Given the description of an element on the screen output the (x, y) to click on. 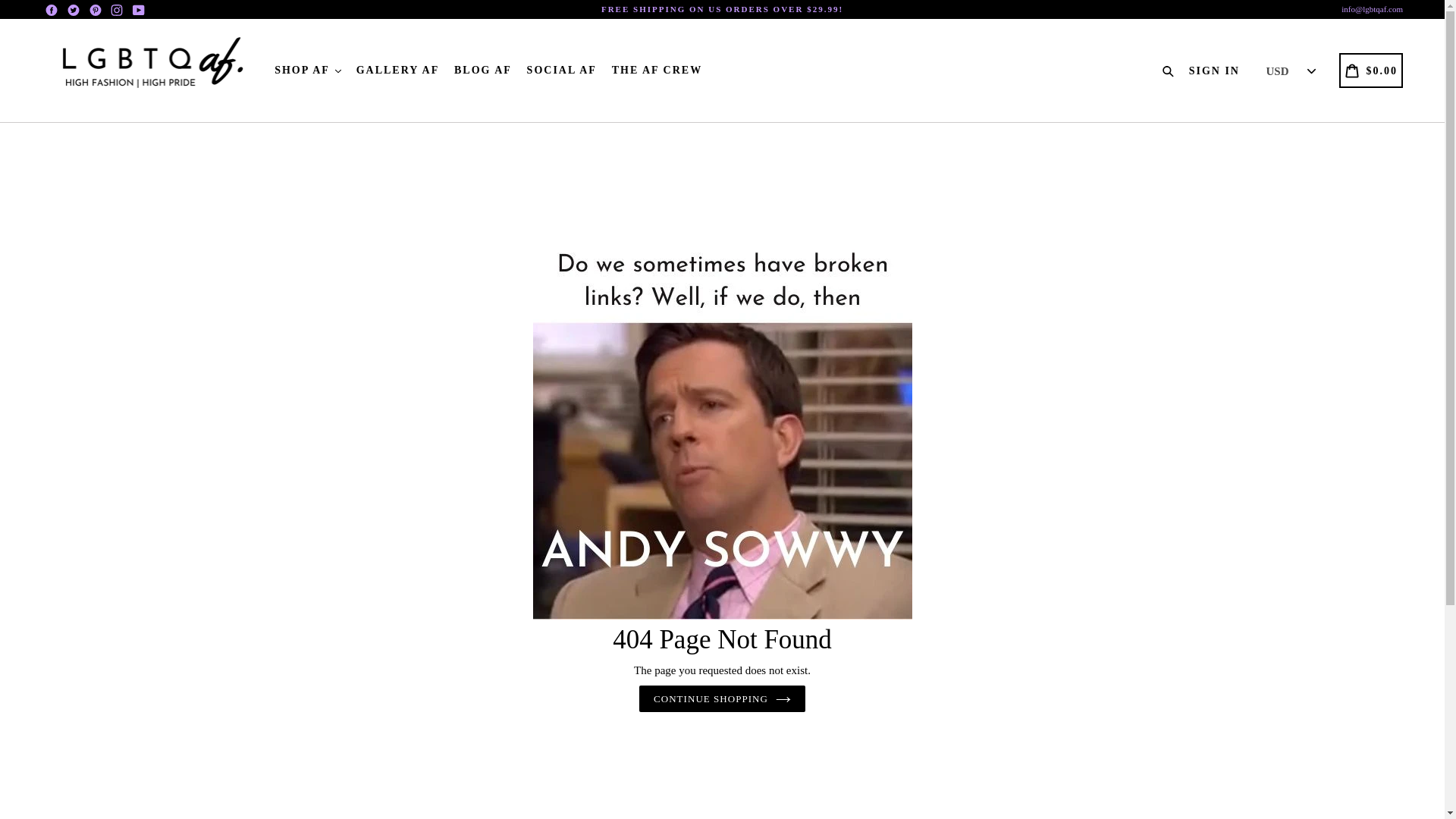
LGBTQ AF on Twitter (73, 9)
LGBTQ AF on Pinterest (94, 9)
LGBTQ AF on Facebook (51, 9)
LGBTQ AF on Instagram (116, 9)
Twitter (73, 9)
LGBTQ AF on YouTube (138, 9)
Facebook (51, 9)
